Given the description of an element on the screen output the (x, y) to click on. 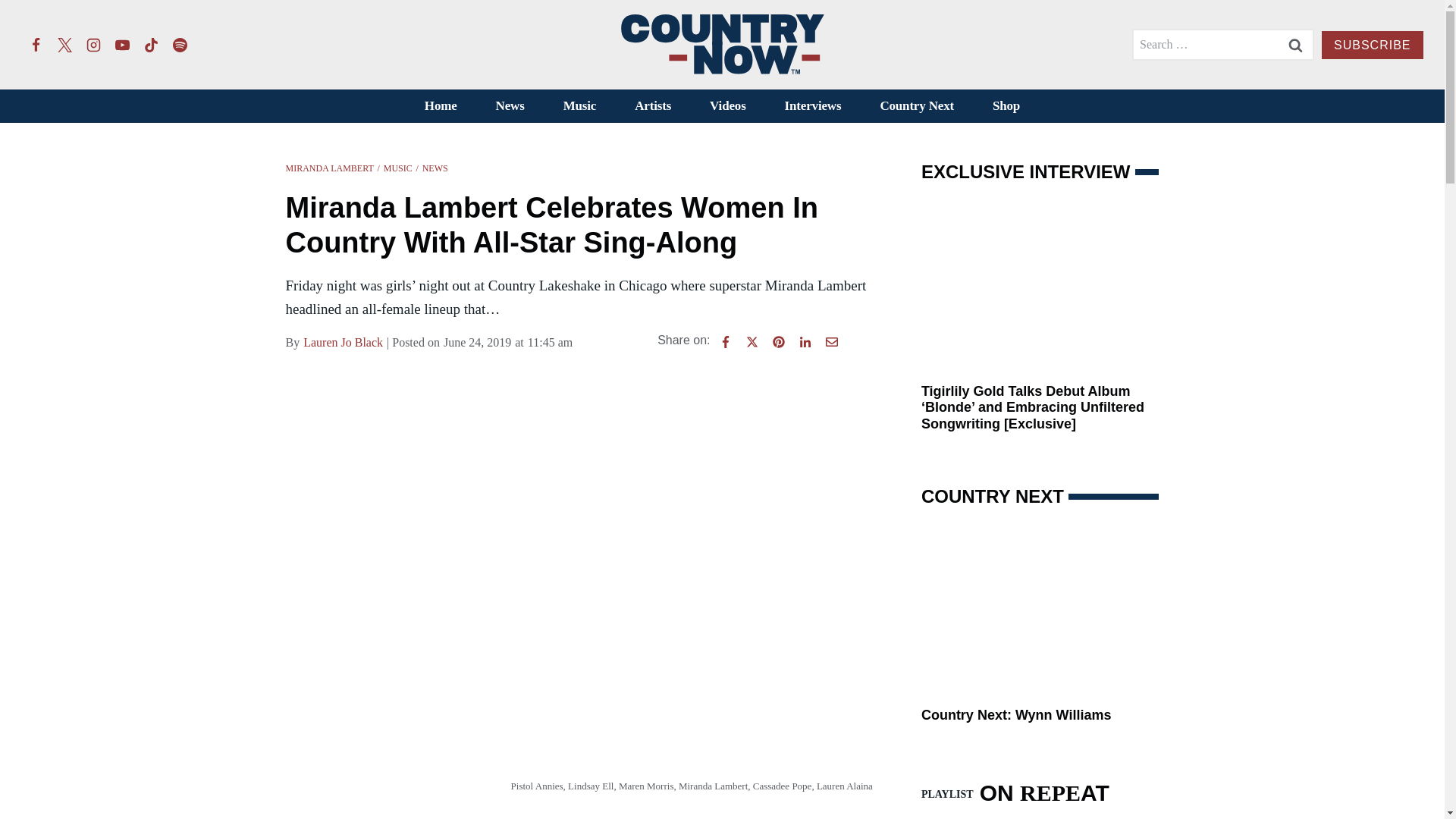
MUSIC (398, 167)
SUBSCRIBE (1372, 44)
Artists (652, 105)
Search (1295, 44)
Lauren Jo Black (342, 342)
Search (1295, 44)
MIRANDA LAMBERT (328, 167)
Interviews (812, 105)
Videos (727, 105)
Search (1295, 44)
Home (440, 105)
Country Next (917, 105)
News (509, 105)
Music (579, 105)
Shop (1005, 105)
